Given the description of an element on the screen output the (x, y) to click on. 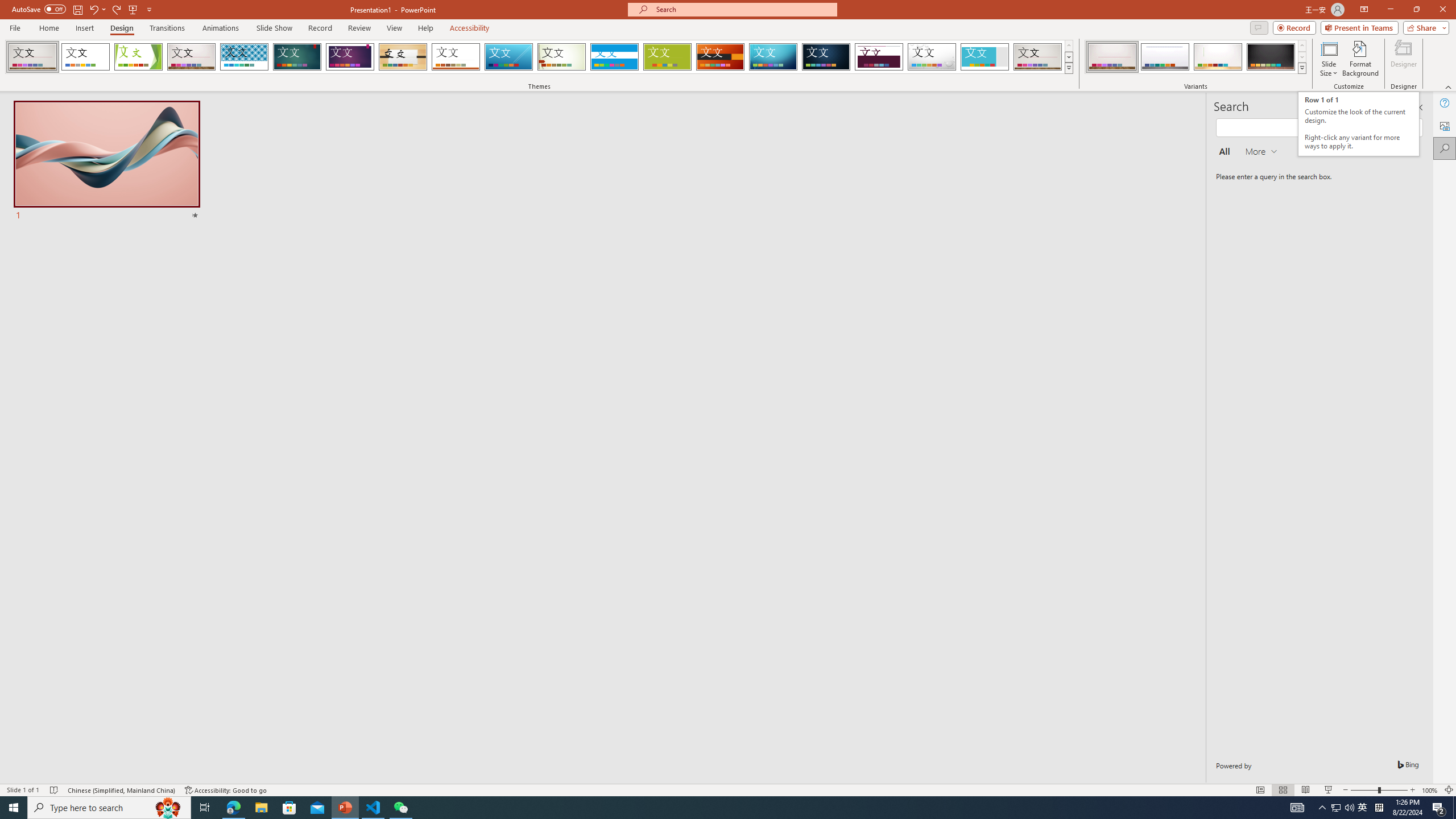
AutomationID: SlideThemesGallery (539, 56)
Droplet (931, 56)
Retrospect (455, 56)
Zoom 100% (1430, 790)
